Given the description of an element on the screen output the (x, y) to click on. 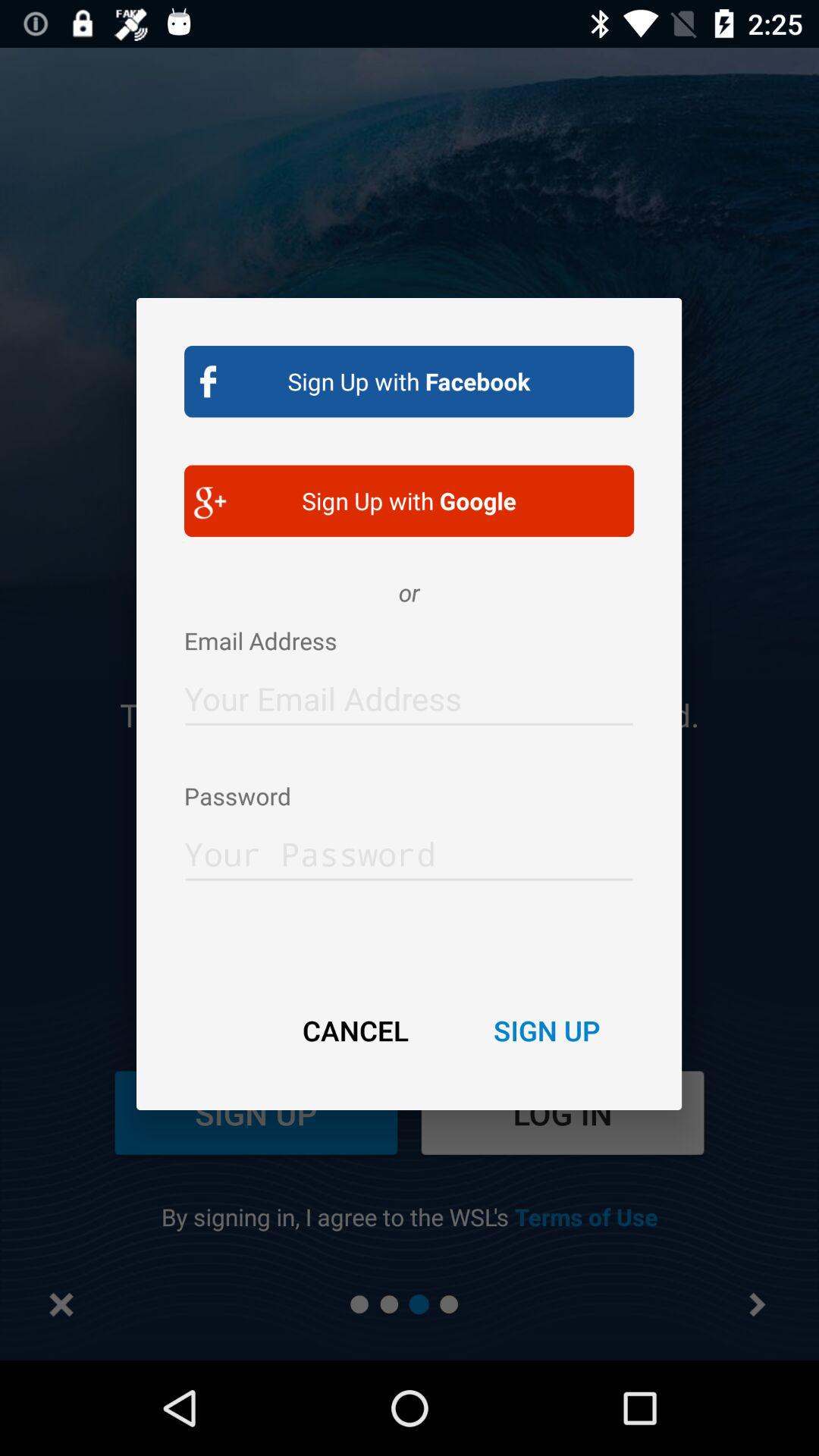
type your password (408, 849)
